Given the description of an element on the screen output the (x, y) to click on. 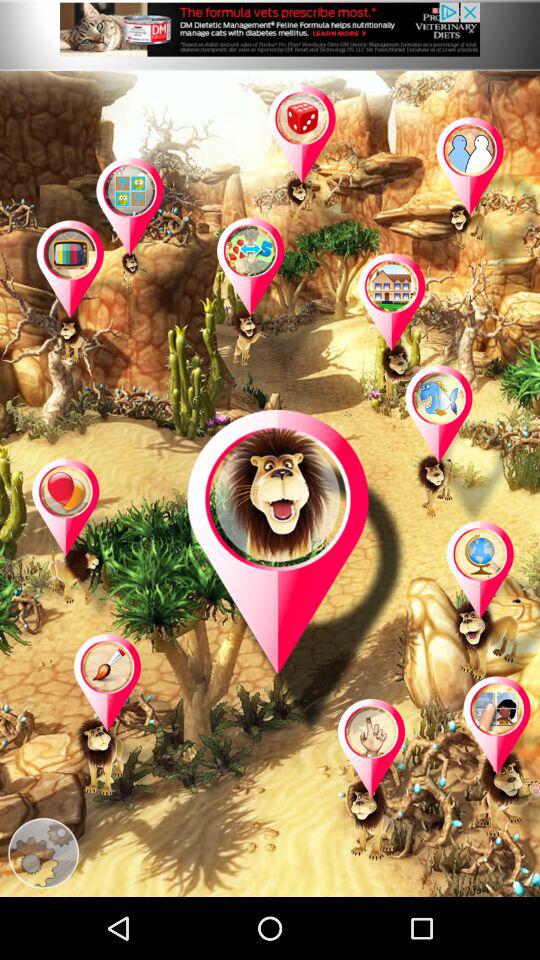
game page (86, 540)
